Given the description of an element on the screen output the (x, y) to click on. 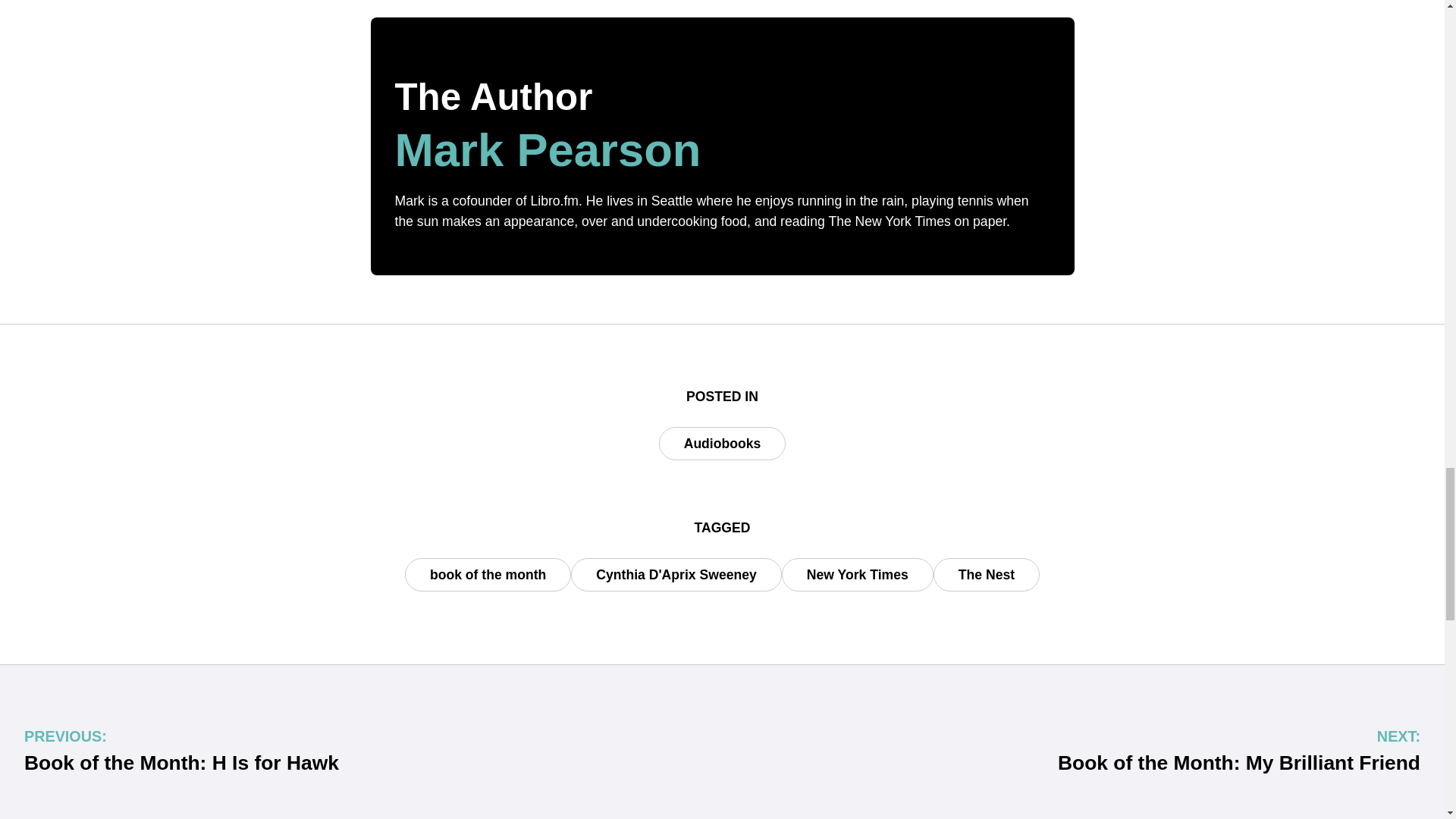
Cynthia D'Aprix Sweeney (675, 574)
Audiobooks (722, 443)
book of the month (487, 574)
